Given the description of an element on the screen output the (x, y) to click on. 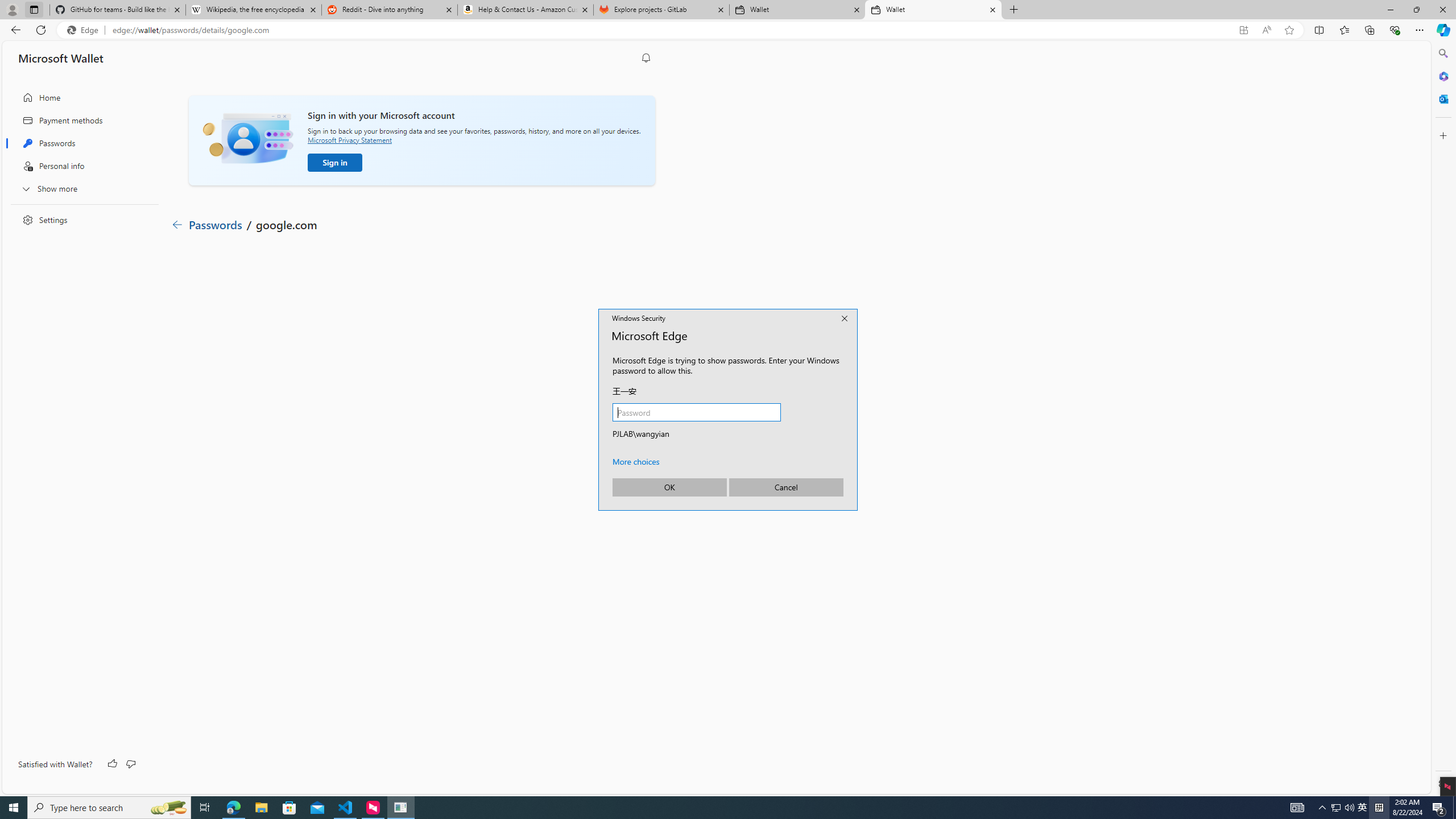
Show desktop (1454, 807)
Sign in (334, 162)
Tray Input Indicator - Chinese (Simplified, China) (1378, 807)
Passwords - 1 total saved (537, 326)
Action Center, 2 new notifications (1439, 807)
Credential Manager UI Host - 1 running window (400, 807)
Cancel (786, 487)
